Given the description of an element on the screen output the (x, y) to click on. 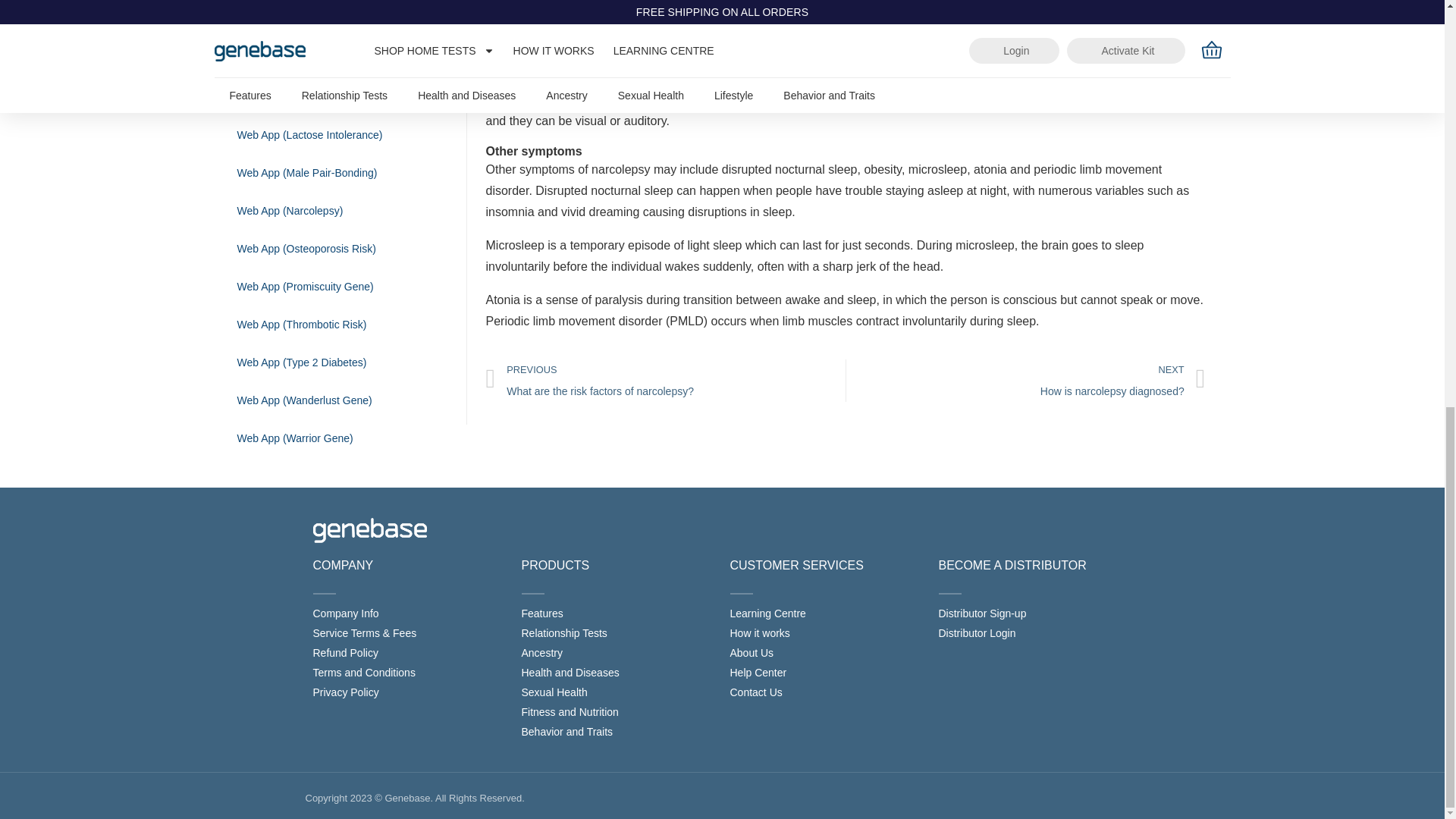
Opens a widget where you can find more information (1386, 1)
